Given the description of an element on the screen output the (x, y) to click on. 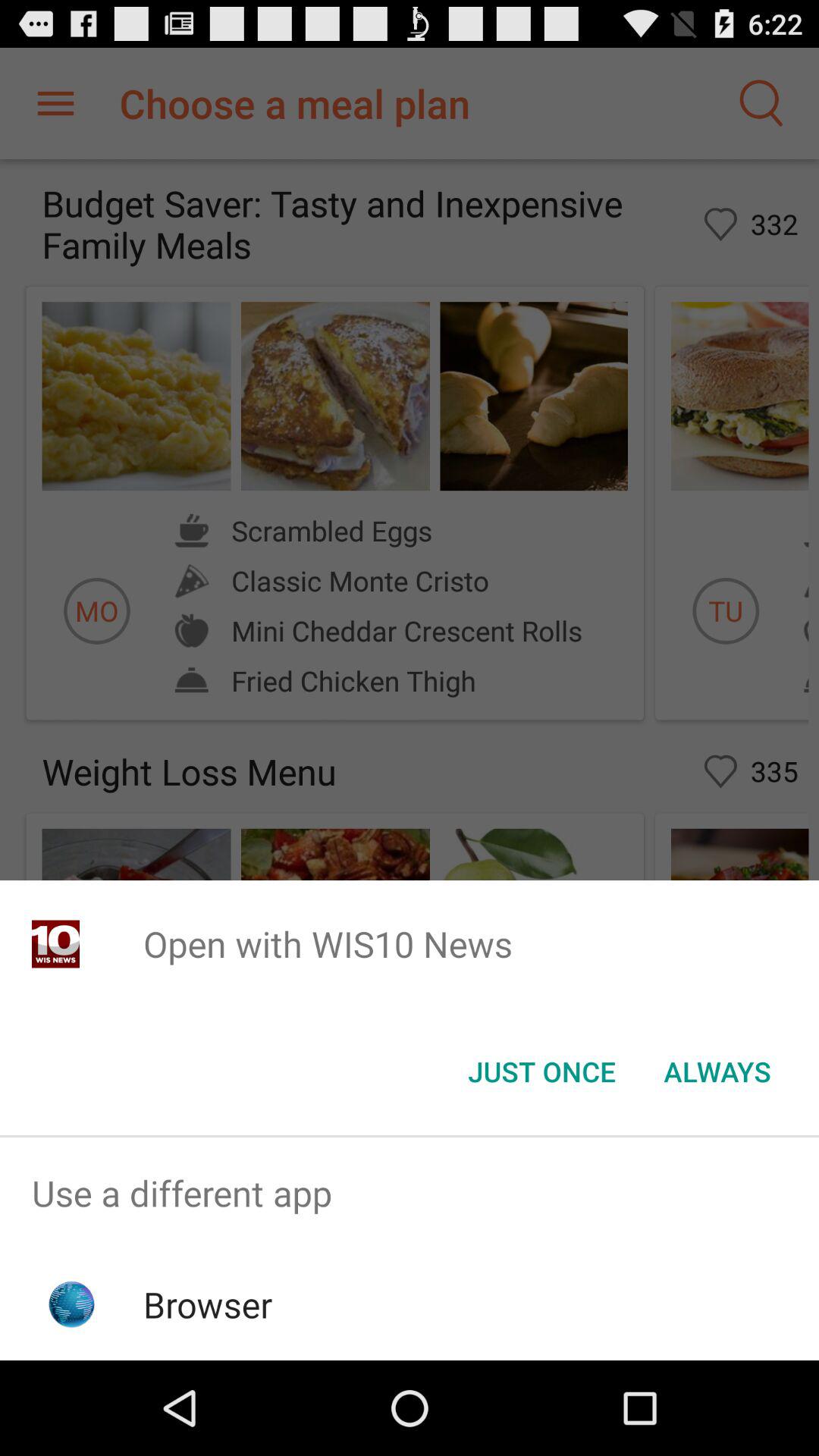
press item above browser (409, 1192)
